Given the description of an element on the screen output the (x, y) to click on. 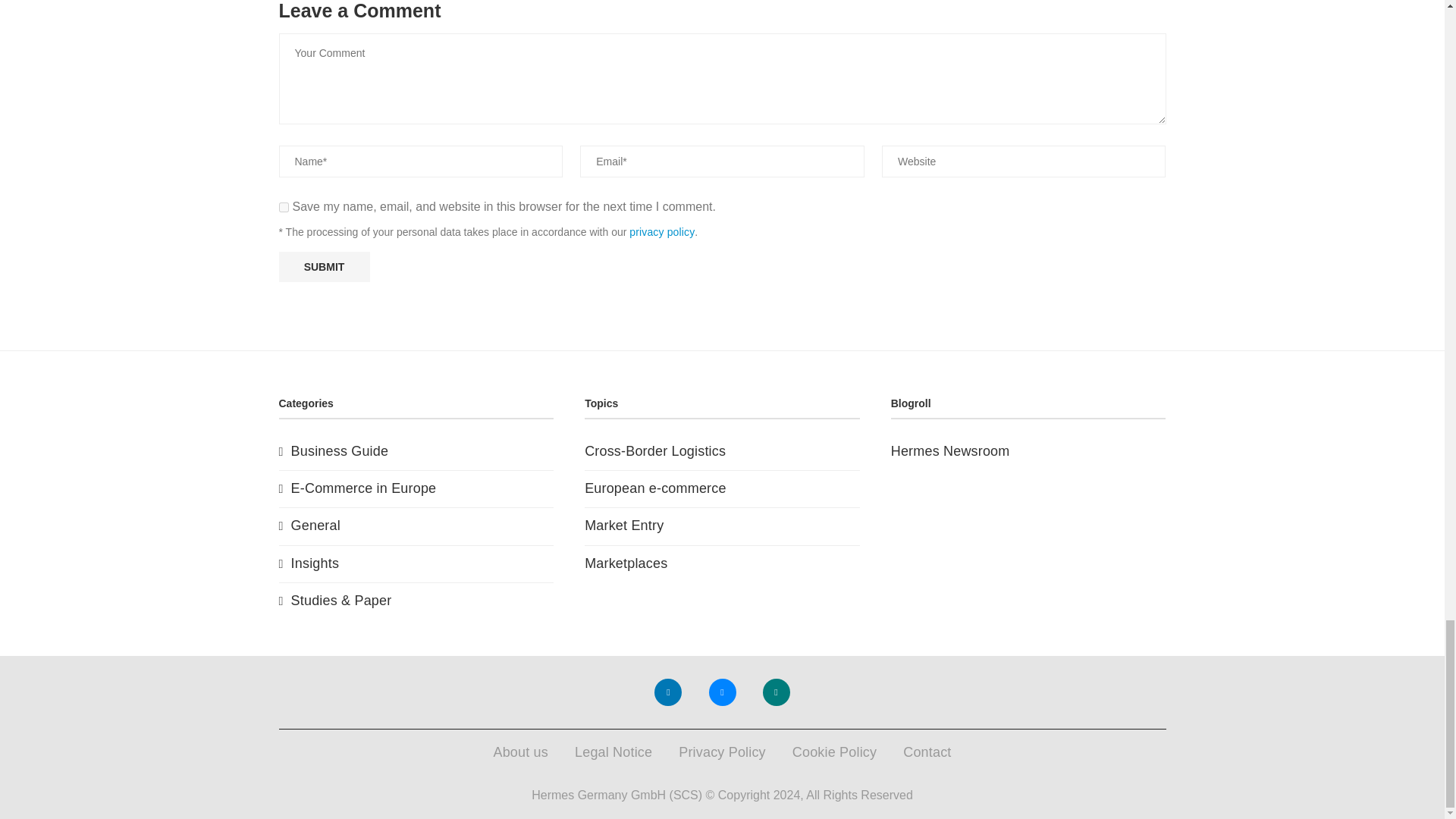
yes (283, 207)
Submit (324, 266)
